Given the description of an element on the screen output the (x, y) to click on. 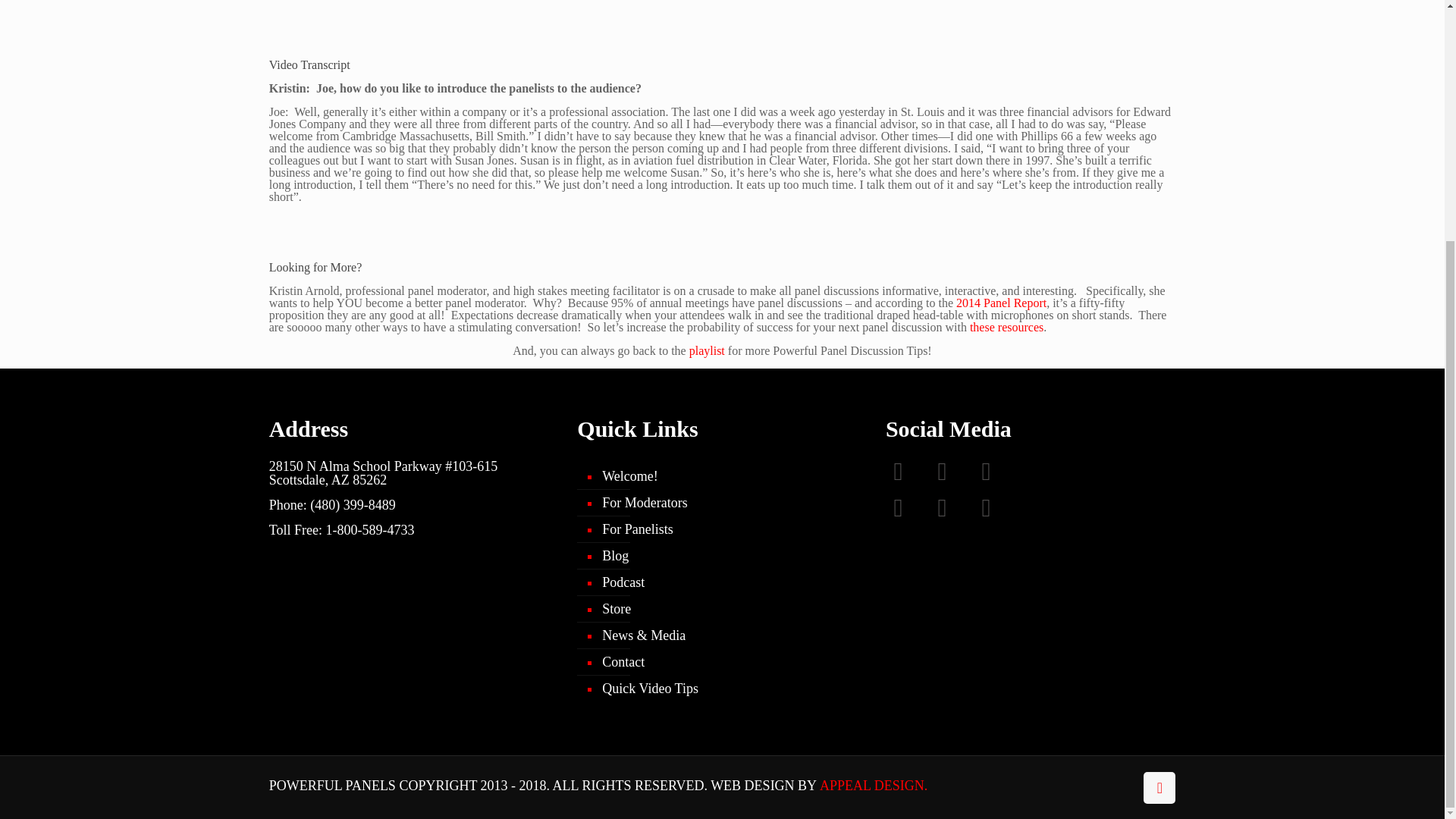
Facebook (907, 477)
RSS (995, 514)
YouTube (995, 477)
Pinterest (952, 514)
LinkedIn (907, 514)
Twitter (952, 477)
